Given the description of an element on the screen output the (x, y) to click on. 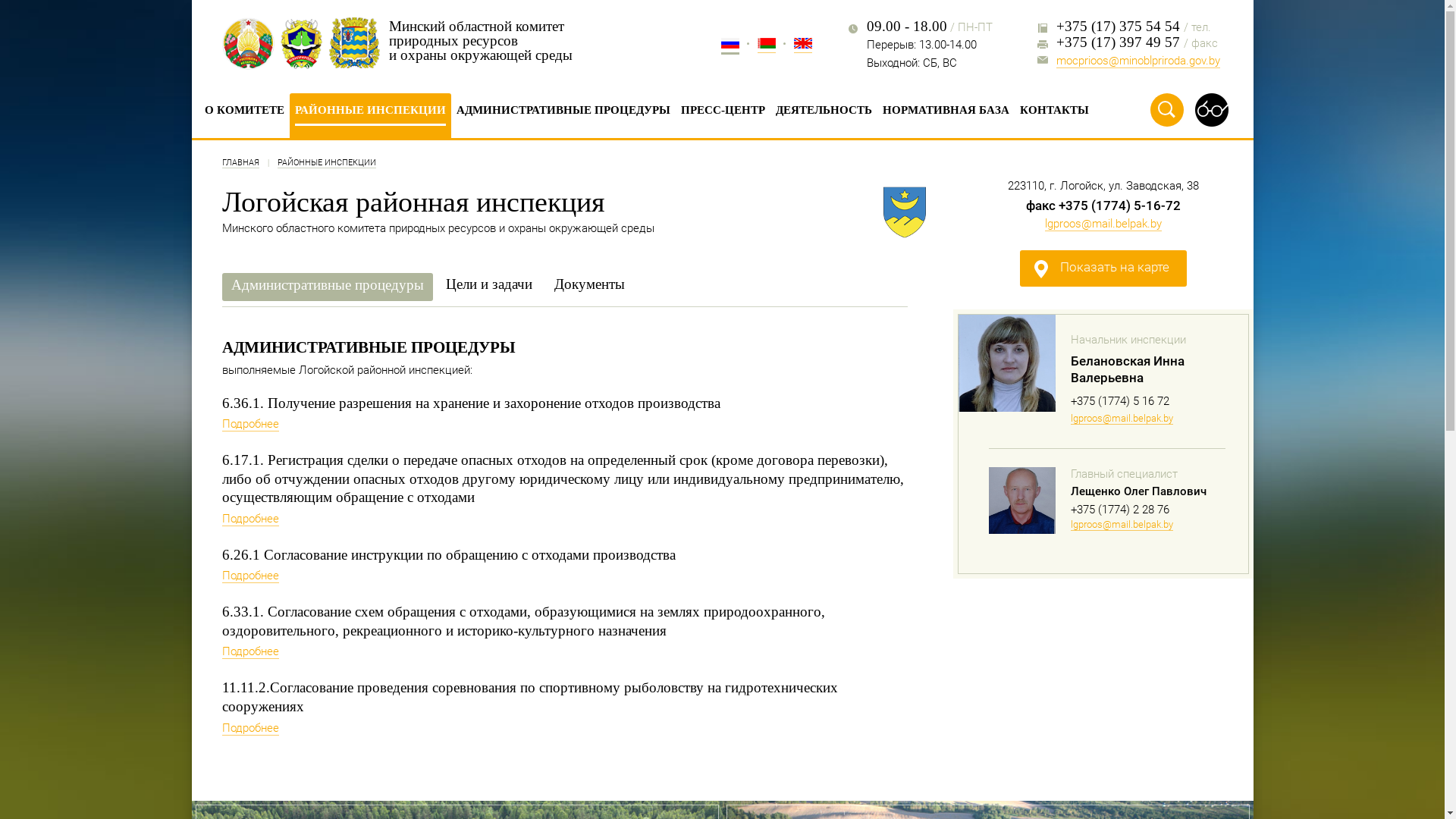
lgproos@mail.belpak.by Element type: text (1121, 524)
mocprioos@minoblpriroda.gov.by Element type: text (1137, 60)
lgproos@mail.belpak.by Element type: text (1102, 223)
lgproos@mail.belpak.by Element type: text (1121, 418)
Special vercion Element type: text (1211, 109)
Eng Element type: text (802, 45)
